Given the description of an element on the screen output the (x, y) to click on. 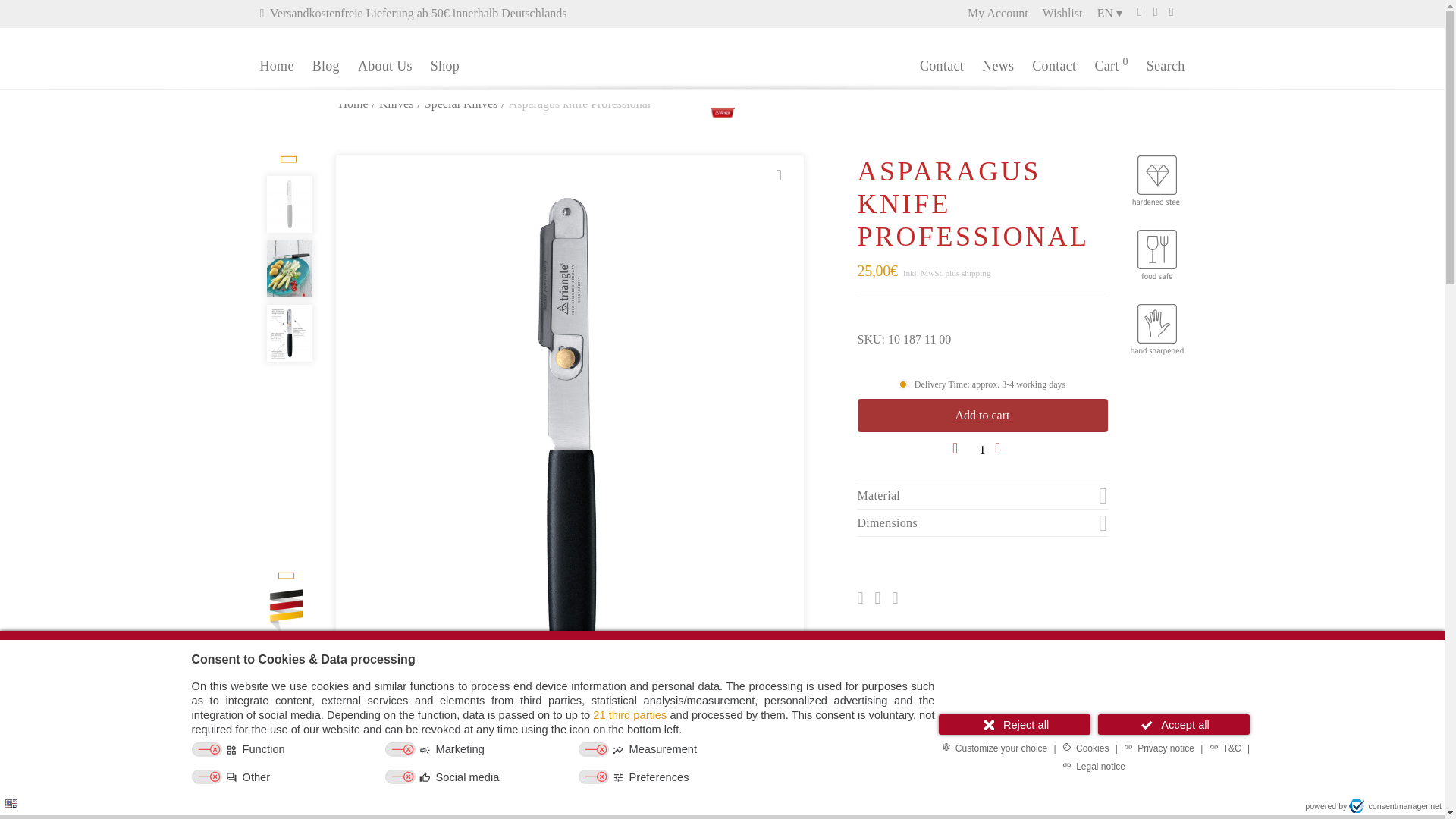
consentmanager.net (1395, 806)
Cart 0 (1110, 65)
Blog (325, 65)
Contact (1053, 65)
Legal notice (1093, 765)
21 third parties (629, 715)
Home (352, 103)
Contact (941, 65)
PayPal (981, 553)
Home (276, 65)
Cookies (1085, 747)
Language: en (11, 803)
News (997, 65)
Reject all (1014, 724)
Search (1165, 65)
